Given the description of an element on the screen output the (x, y) to click on. 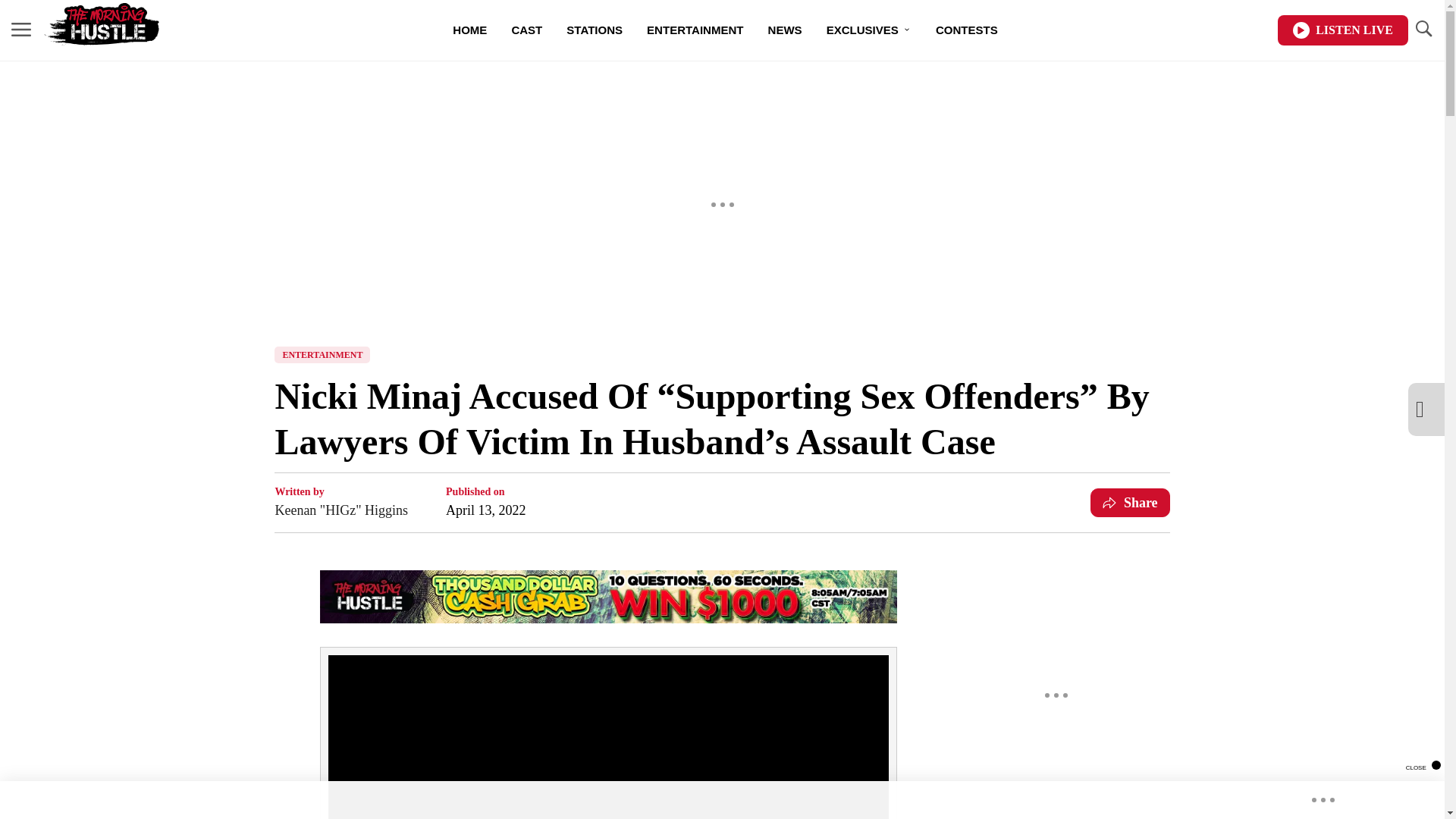
CAST (526, 30)
STATIONS (594, 30)
ENTERTAINMENT (322, 354)
Share (1130, 502)
MENU (20, 30)
EXCLUSIVES (868, 30)
NEWS (784, 30)
CONTESTS (966, 30)
MENU (20, 29)
TOGGLE SEARCH (1422, 28)
